Given the description of an element on the screen output the (x, y) to click on. 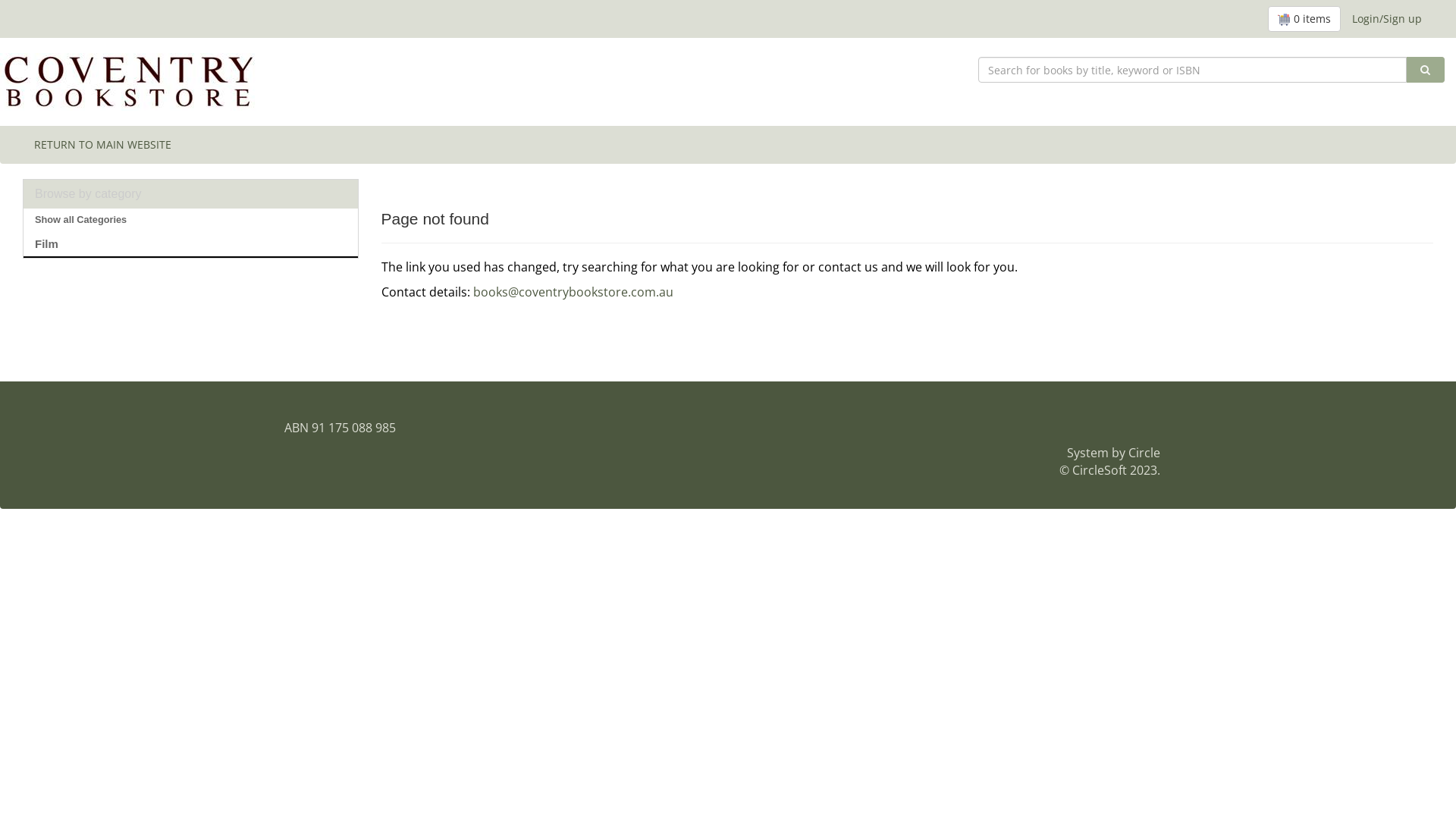
0 items Element type: text (1303, 18)
System by Circle Element type: text (1113, 452)
Show all Categories Element type: text (190, 219)
Film Element type: text (190, 243)
0 items Element type: text (1303, 18)
books@coventrybookstore.com.au Element type: text (573, 291)
Login/Sign up Element type: text (1386, 18)
RETURN TO MAIN WEBSITE Element type: text (102, 144)
